Given the description of an element on the screen output the (x, y) to click on. 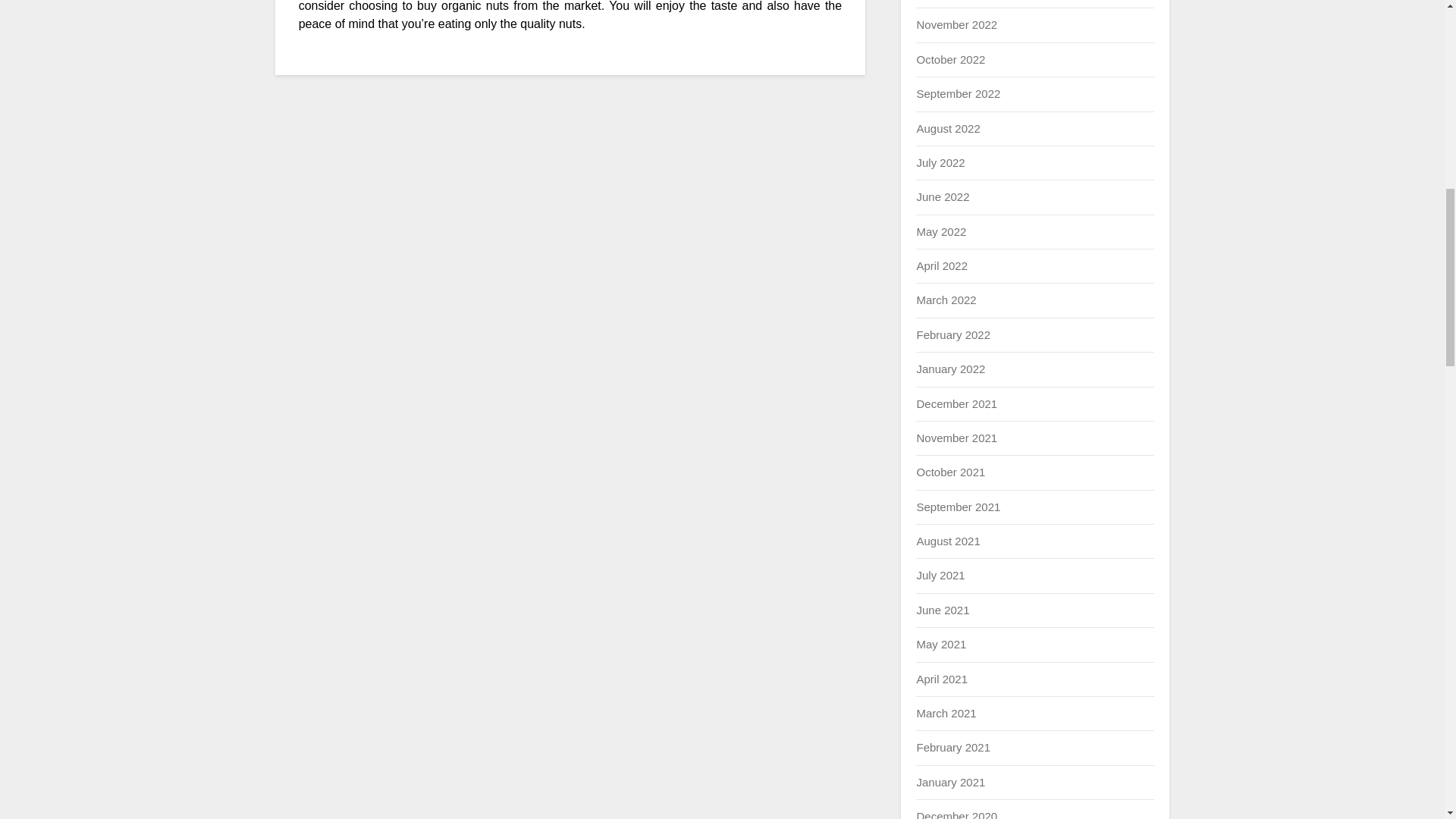
November 2022 (956, 24)
July 2022 (939, 162)
August 2022 (947, 127)
February 2022 (952, 334)
April 2022 (941, 265)
January 2022 (950, 368)
March 2022 (945, 299)
December 2021 (956, 403)
November 2021 (956, 437)
October 2022 (950, 59)
